Given the description of an element on the screen output the (x, y) to click on. 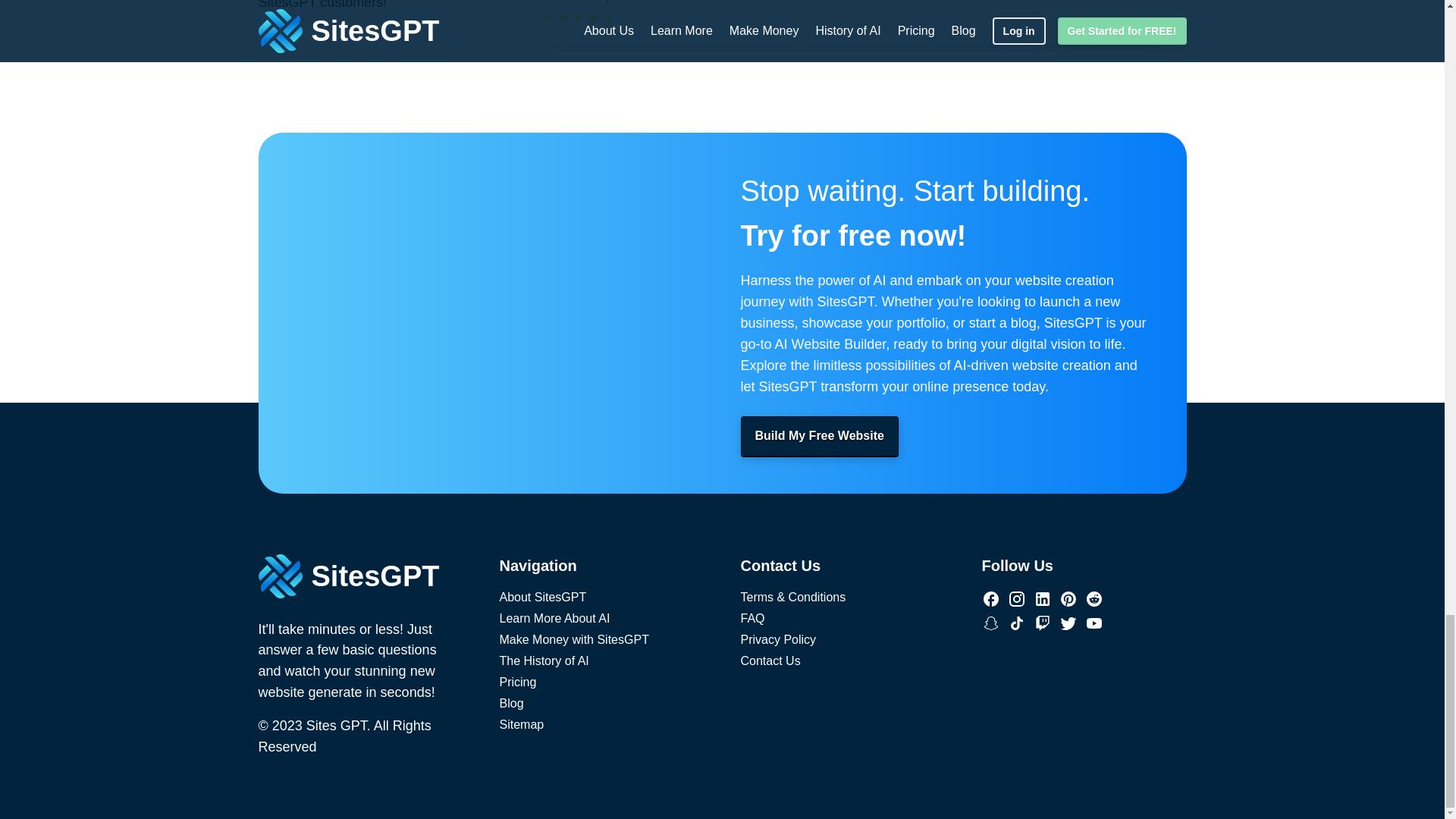
Pricing (517, 680)
Make Money with SitesGPT (573, 638)
Privacy Policy (777, 638)
About SitesGPT (542, 595)
The History of AI (543, 659)
FAQ (751, 617)
Contact Us (769, 659)
SitesGPT (360, 575)
Learn More About AI (554, 617)
Build My Free Website (818, 435)
Blog (510, 702)
Sitemap (521, 723)
